Given the description of an element on the screen output the (x, y) to click on. 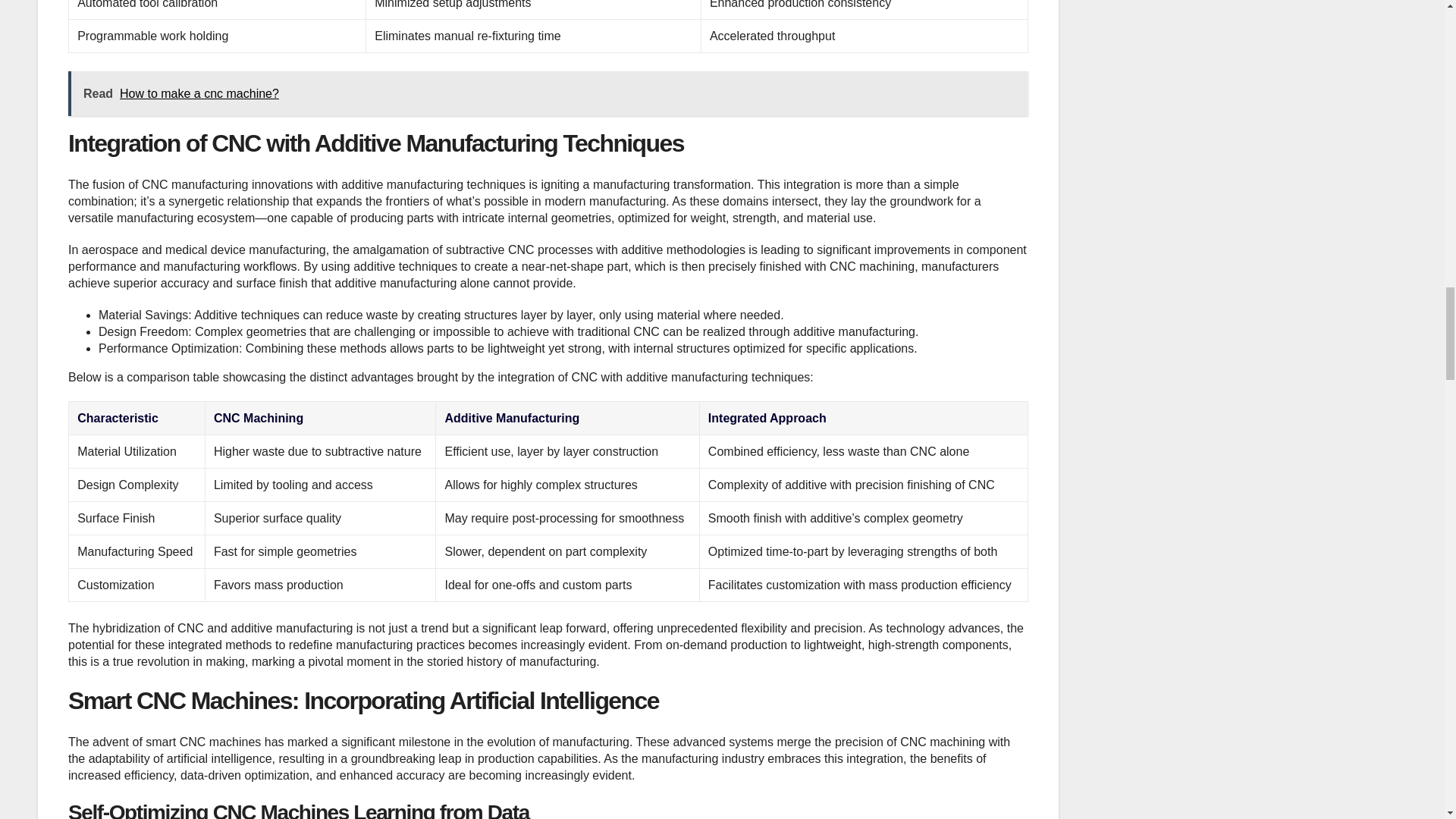
Read  How to make a cnc machine? (547, 93)
